Given the description of an element on the screen output the (x, y) to click on. 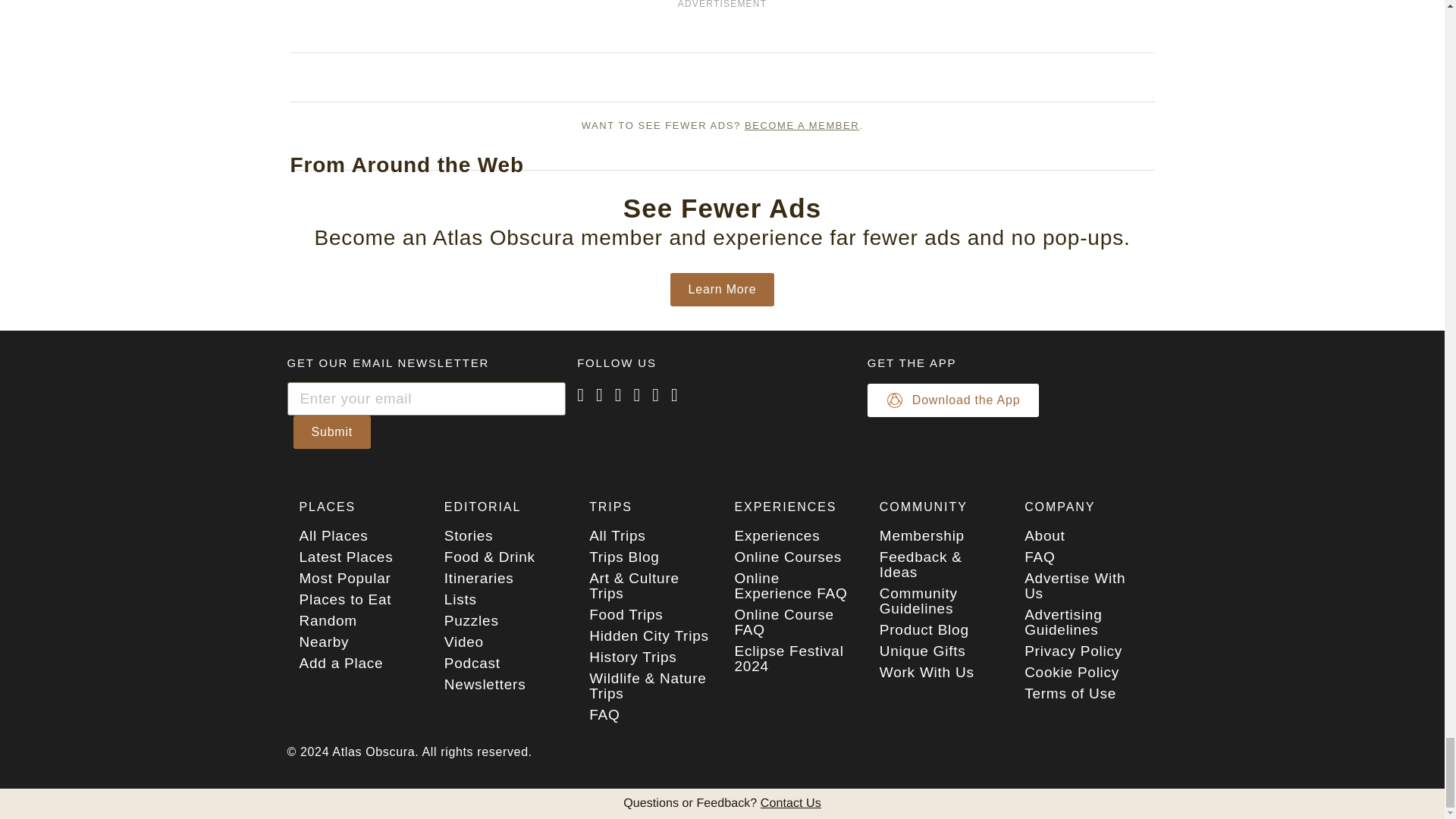
Submit (331, 431)
